Given the description of an element on the screen output the (x, y) to click on. 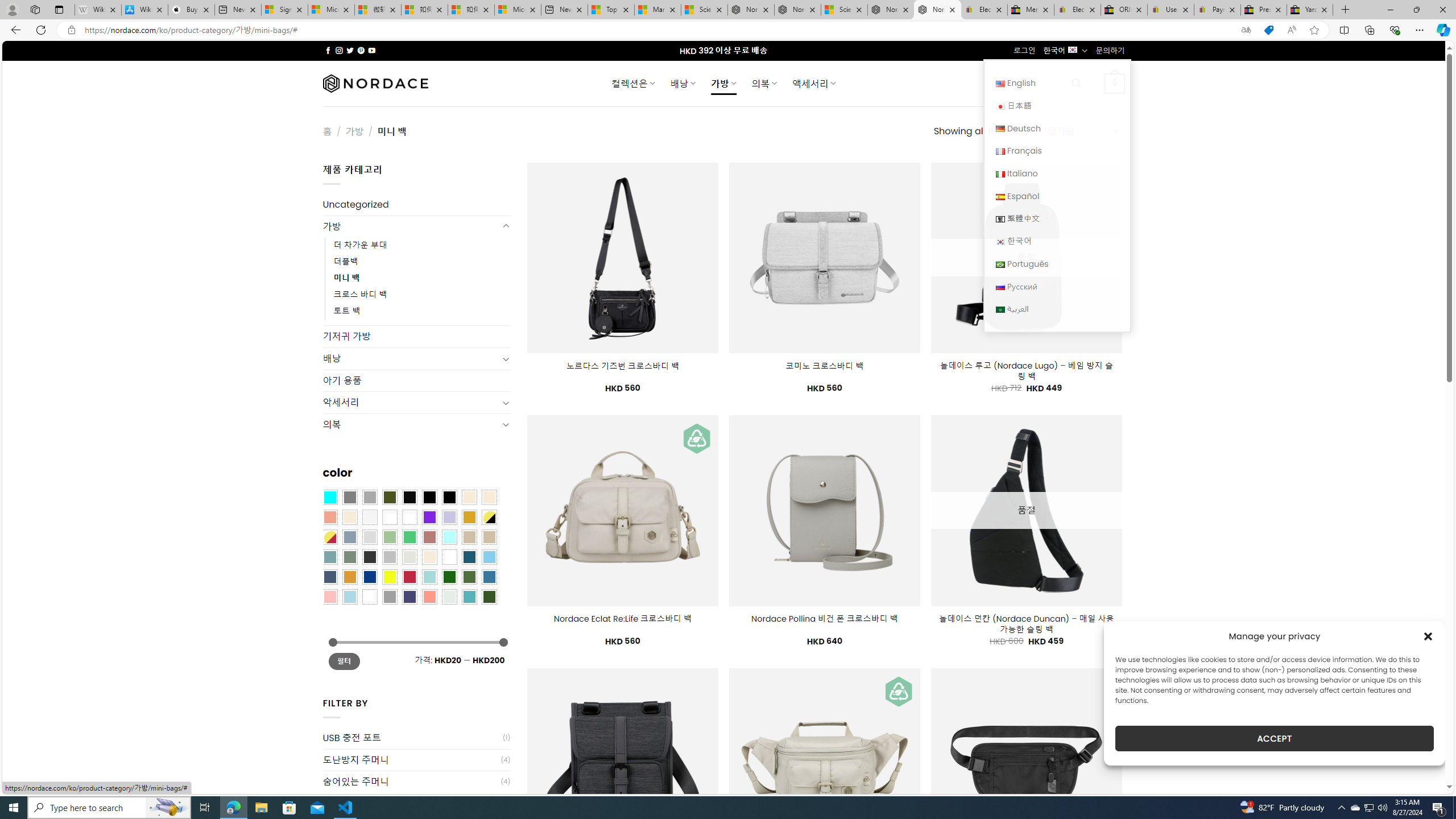
 Italiano (1056, 173)
Kelp (408, 517)
 English (1056, 83)
Follow on Facebook (327, 50)
